Given the description of an element on the screen output the (x, y) to click on. 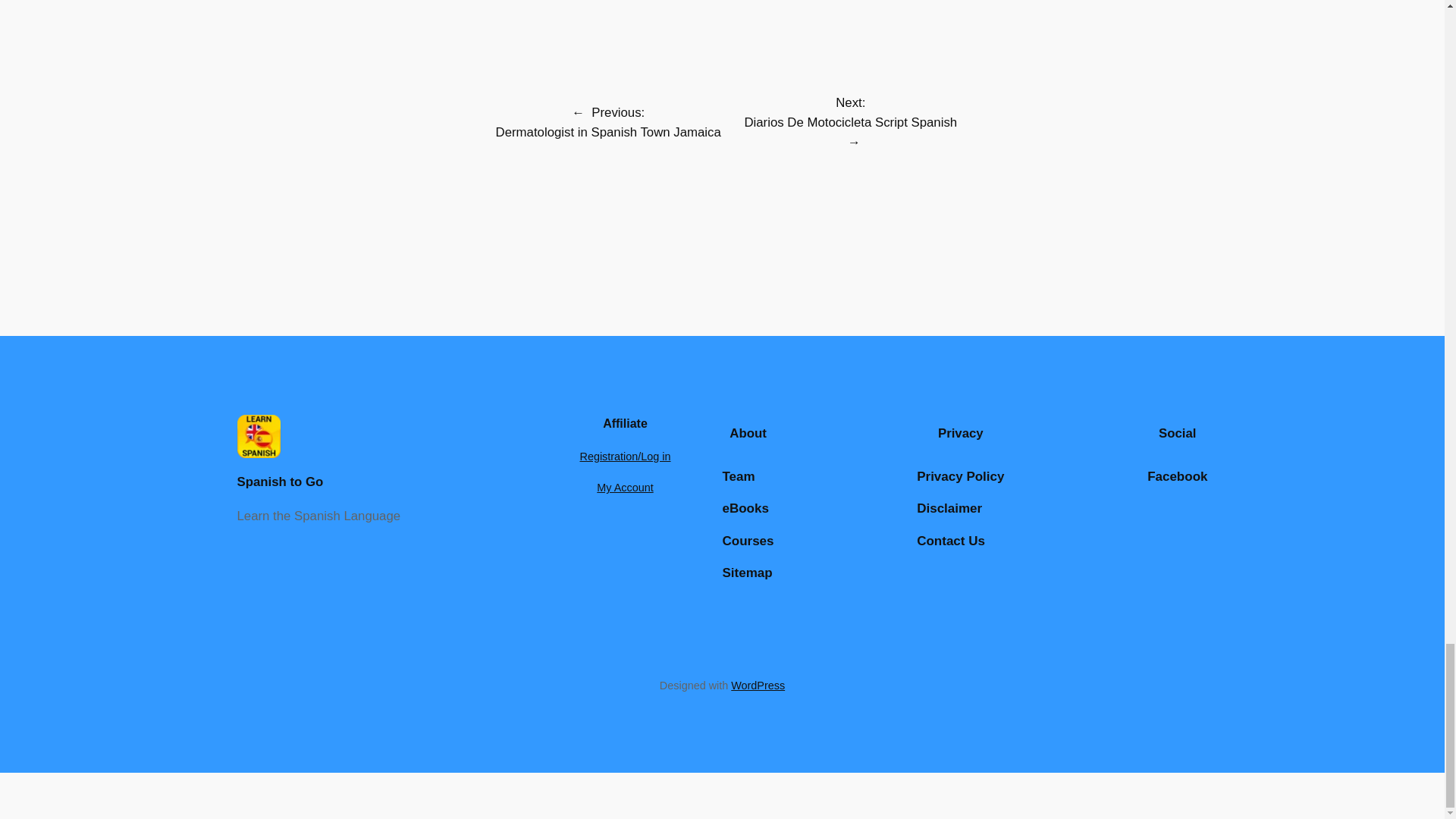
Sitemap (746, 573)
My Account (624, 487)
Next: Diarios De Motocicleta Script Spanish (850, 112)
Previous: Dermatologist in Spanish Town Jamaica (608, 122)
eBooks (745, 508)
Team (738, 476)
Spanish to Go (279, 481)
Courses (747, 541)
